Given the description of an element on the screen output the (x, y) to click on. 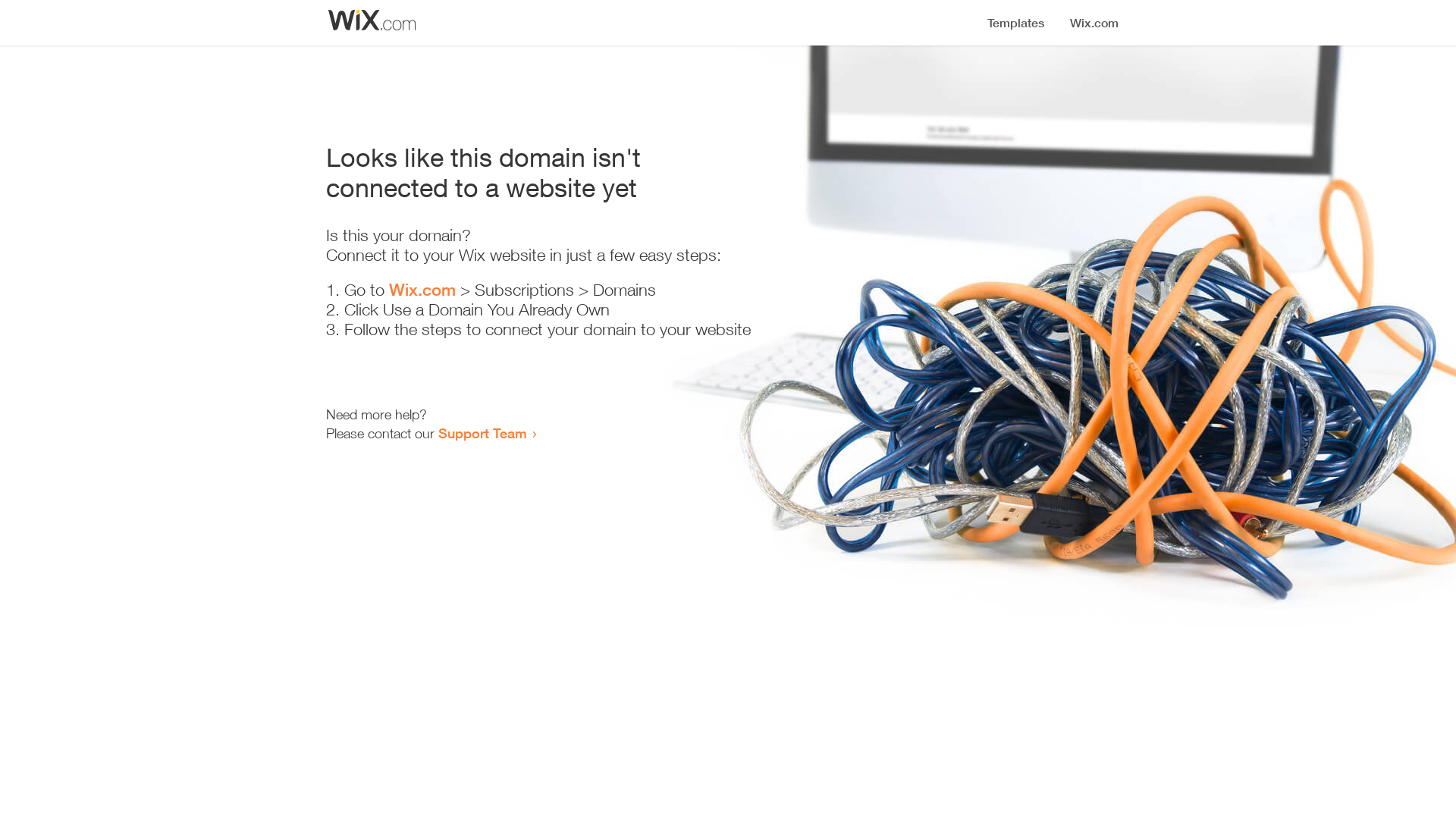
Support Team Element type: text (482, 432)
Wix.com Element type: text (422, 289)
